Given the description of an element on the screen output the (x, y) to click on. 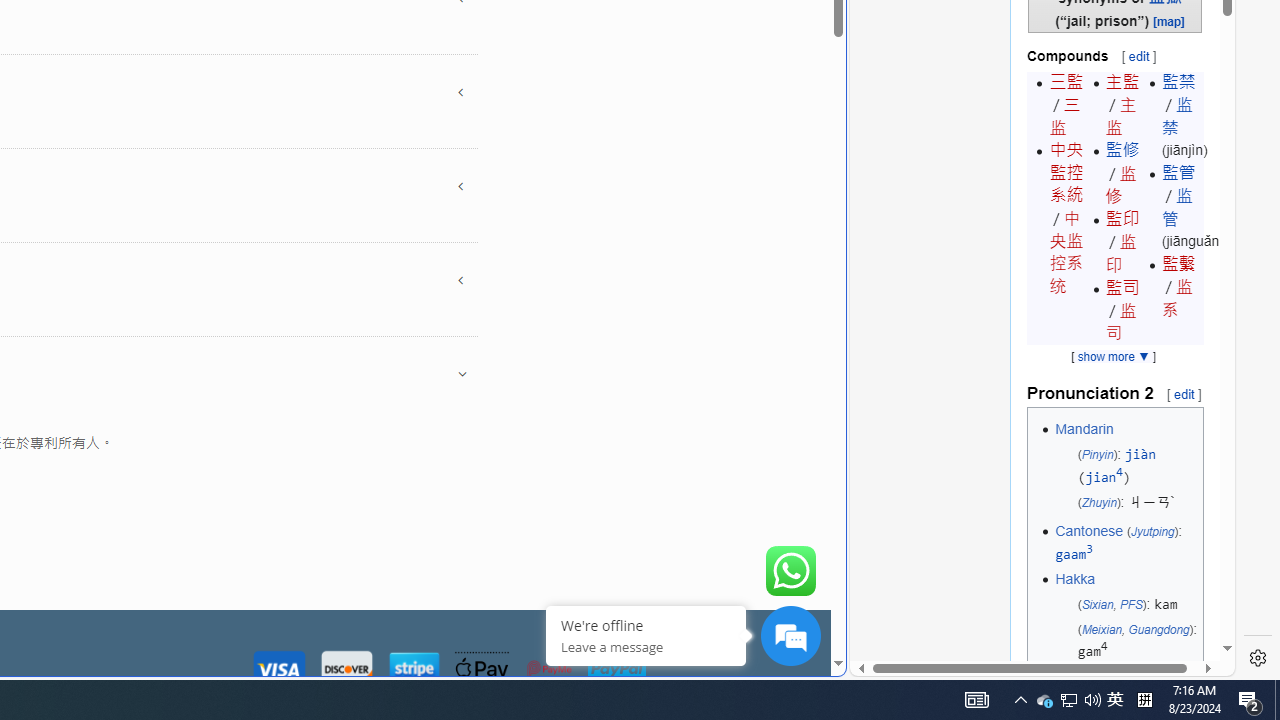
Jyutping (1152, 531)
Zhuyin (1099, 502)
Pinyin (1097, 453)
